Given the description of an element on the screen output the (x, y) to click on. 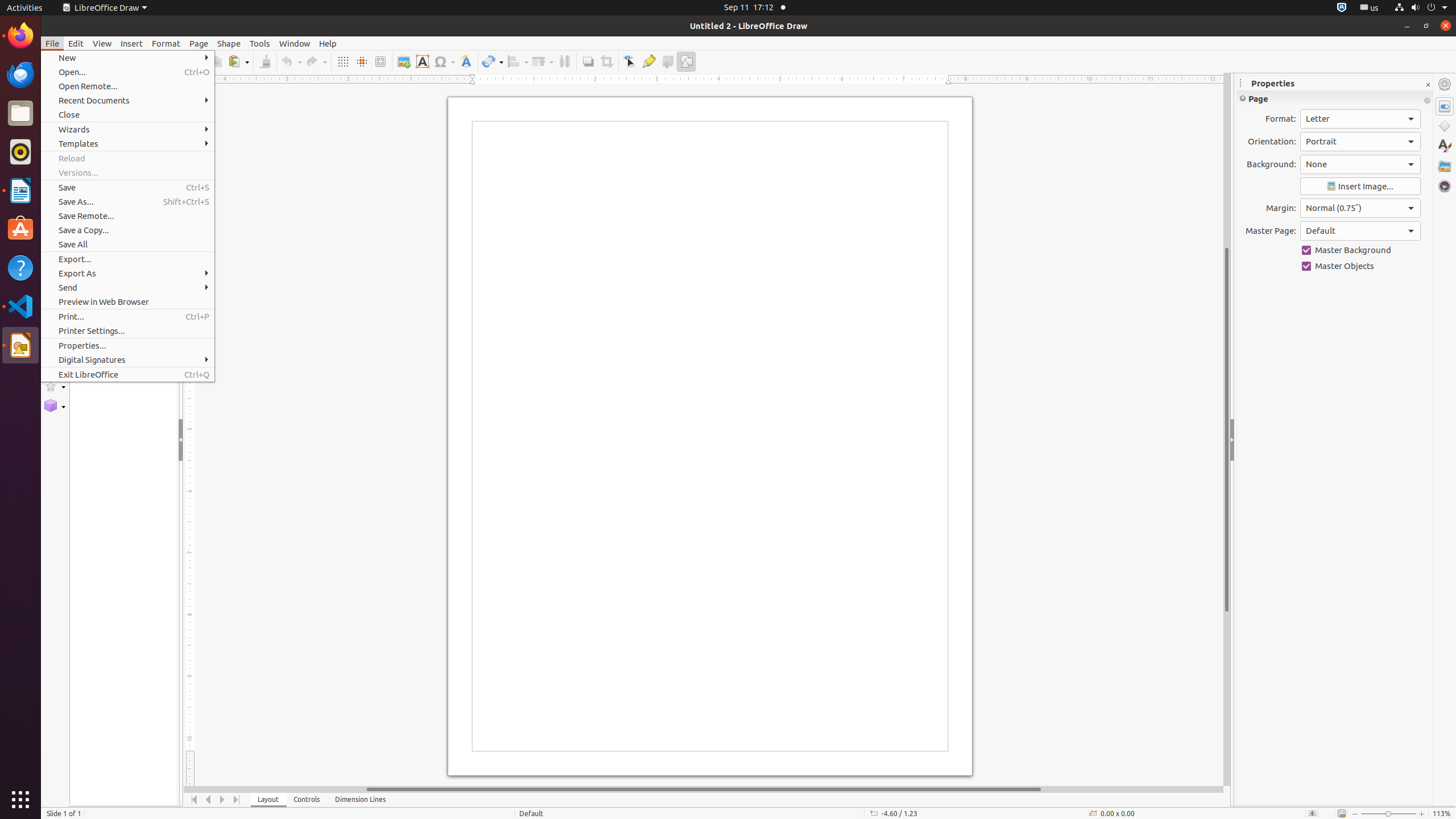
Glue Points Element type: push-button (648, 61)
Print... Element type: menu-item (127, 316)
Move To End Element type: push-button (236, 799)
Properties... Element type: menu-item (127, 345)
Navigator Element type: radio-button (1444, 185)
